Given the description of an element on the screen output the (x, y) to click on. 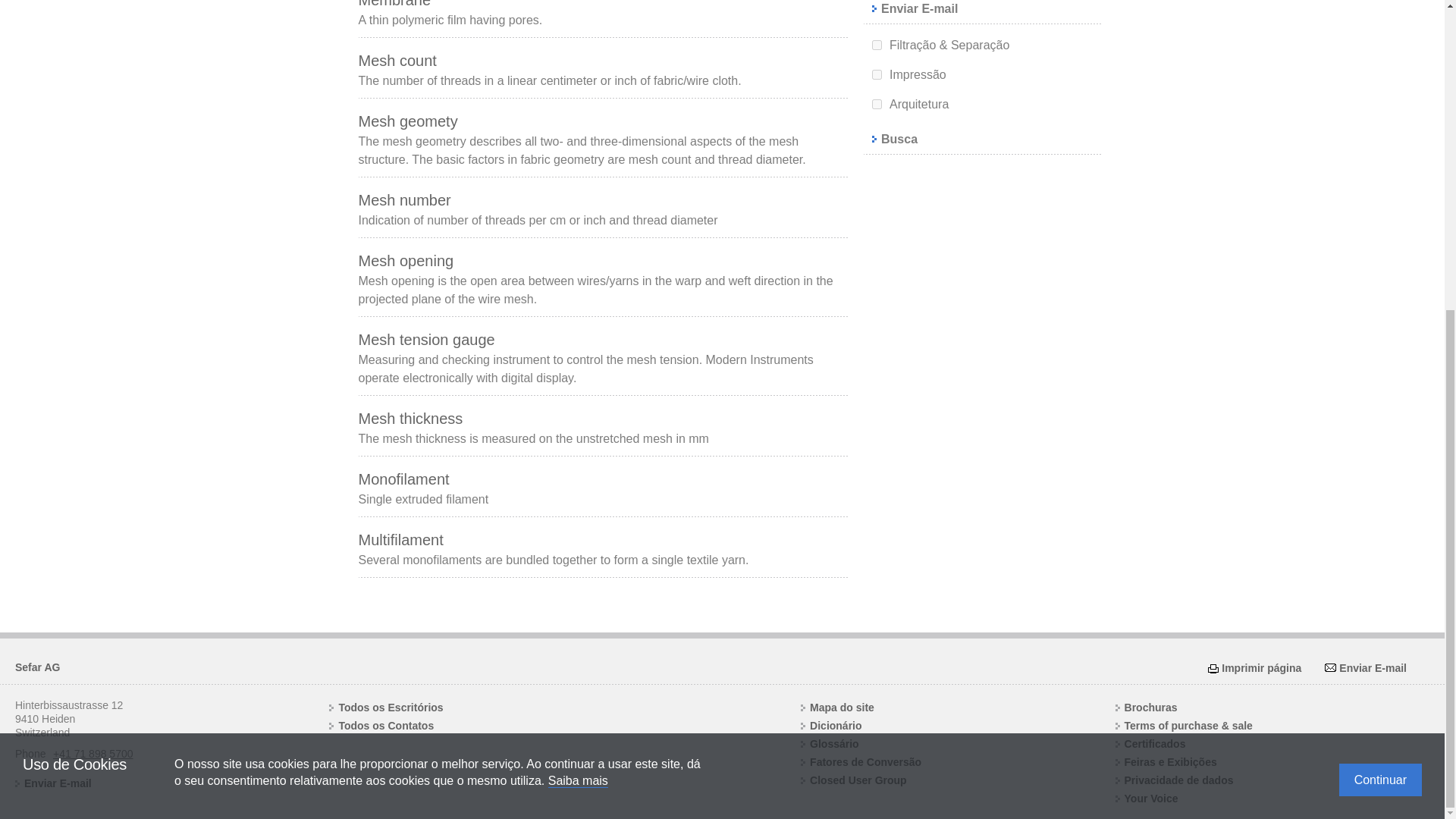
Screen Printing (877, 74)
Architecture (877, 103)
